Given the description of an element on the screen output the (x, y) to click on. 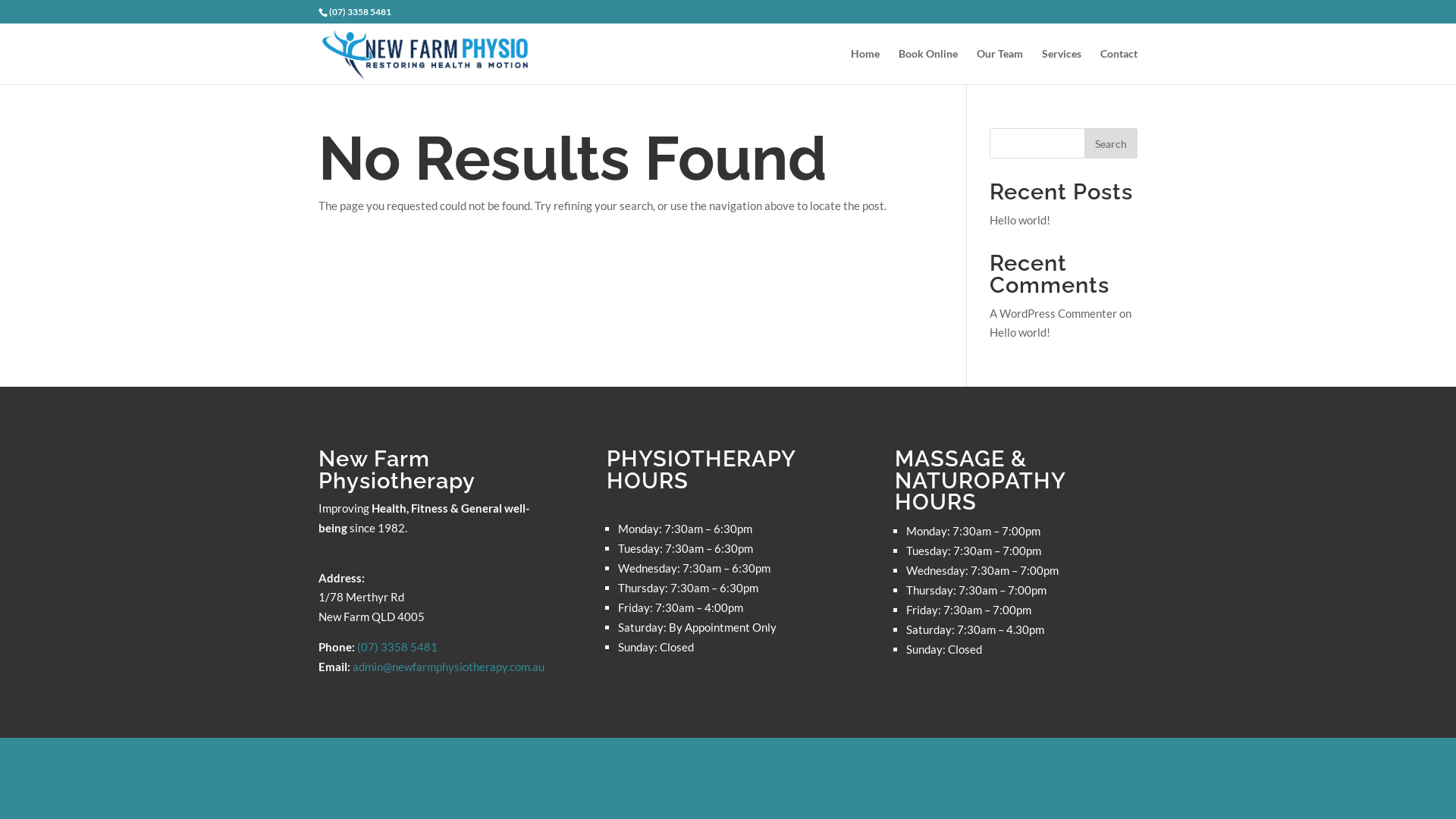
Book Online Element type: text (927, 66)
A WordPress Commenter Element type: text (1053, 313)
Services Element type: text (1061, 66)
Home Element type: text (864, 66)
(07) 3358 5481 Element type: text (360, 11)
(07) 3358 5481 Element type: text (397, 646)
Search Element type: text (1110, 143)
Contact Element type: text (1118, 66)
Our Team Element type: text (999, 66)
admin@newfarmphysiotherapy.com.au Element type: text (448, 666)
Hello world! Element type: text (1019, 331)
Hello world! Element type: text (1019, 219)
